Given the description of an element on the screen output the (x, y) to click on. 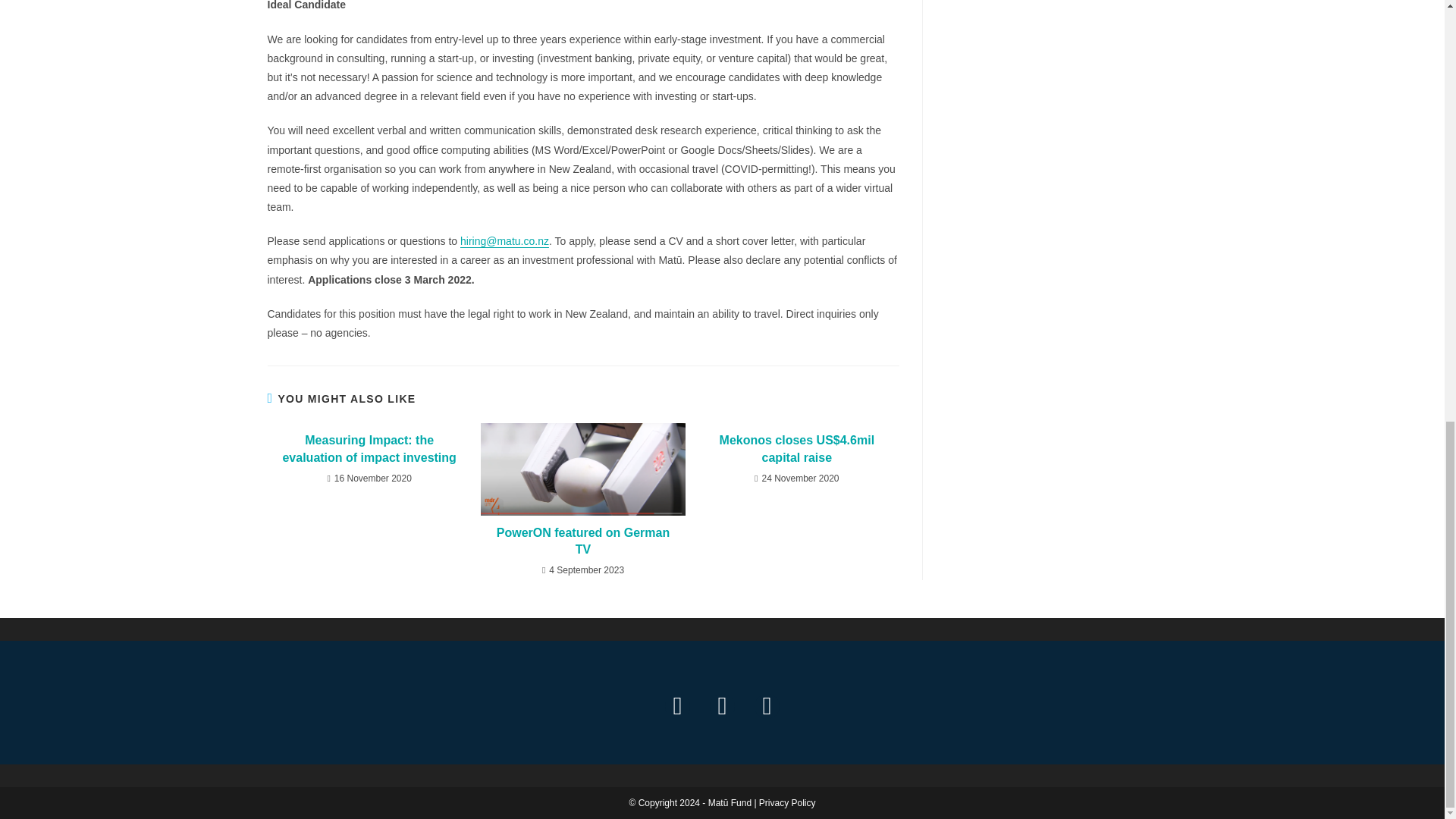
Measuring Impact: the evaluation of impact investing (368, 449)
PowerON featured on German TV (582, 541)
Privacy Policy (786, 802)
